Given the description of an element on the screen output the (x, y) to click on. 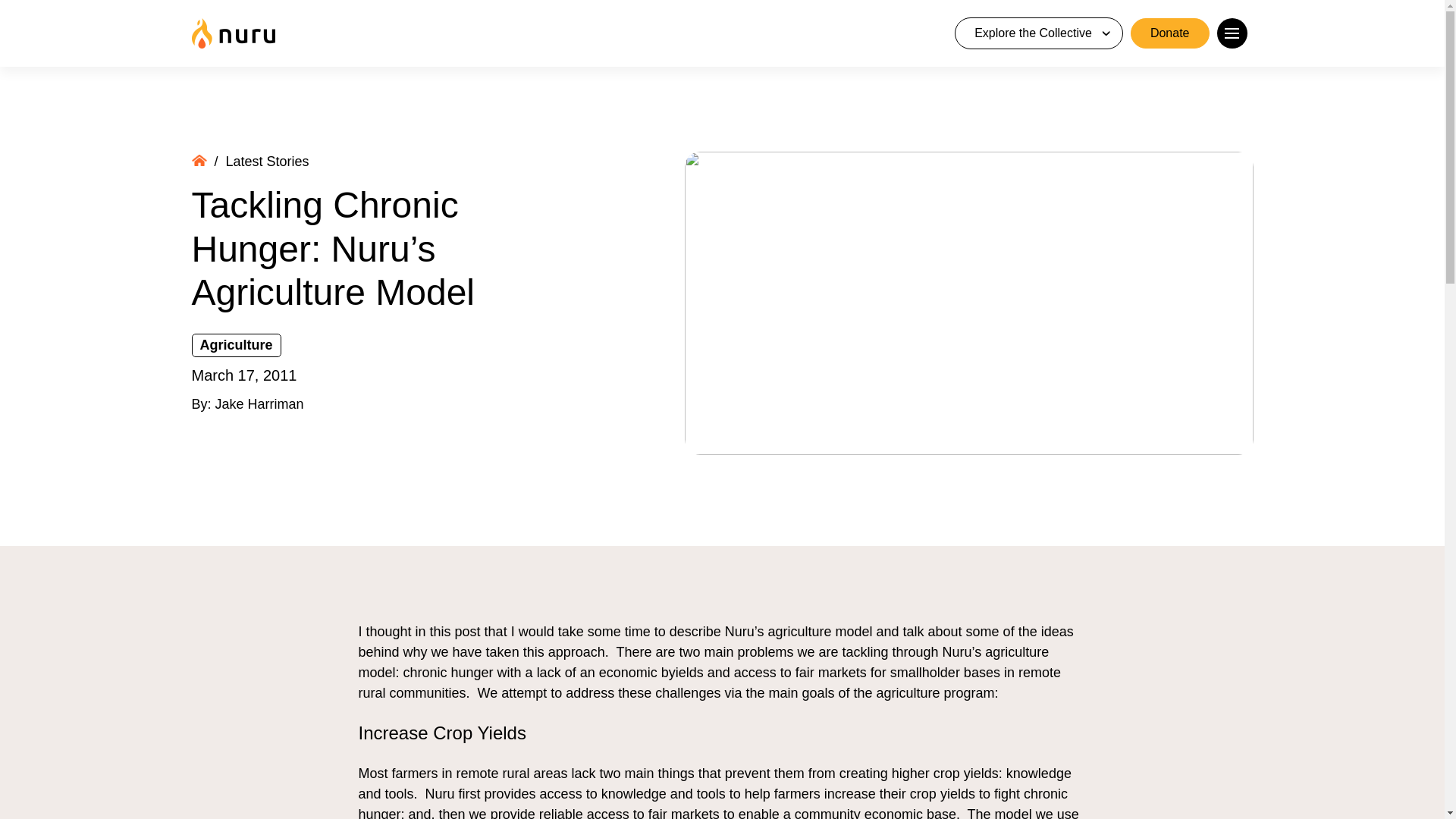
Latest Stories (266, 160)
Donate (1170, 33)
